Given the description of an element on the screen output the (x, y) to click on. 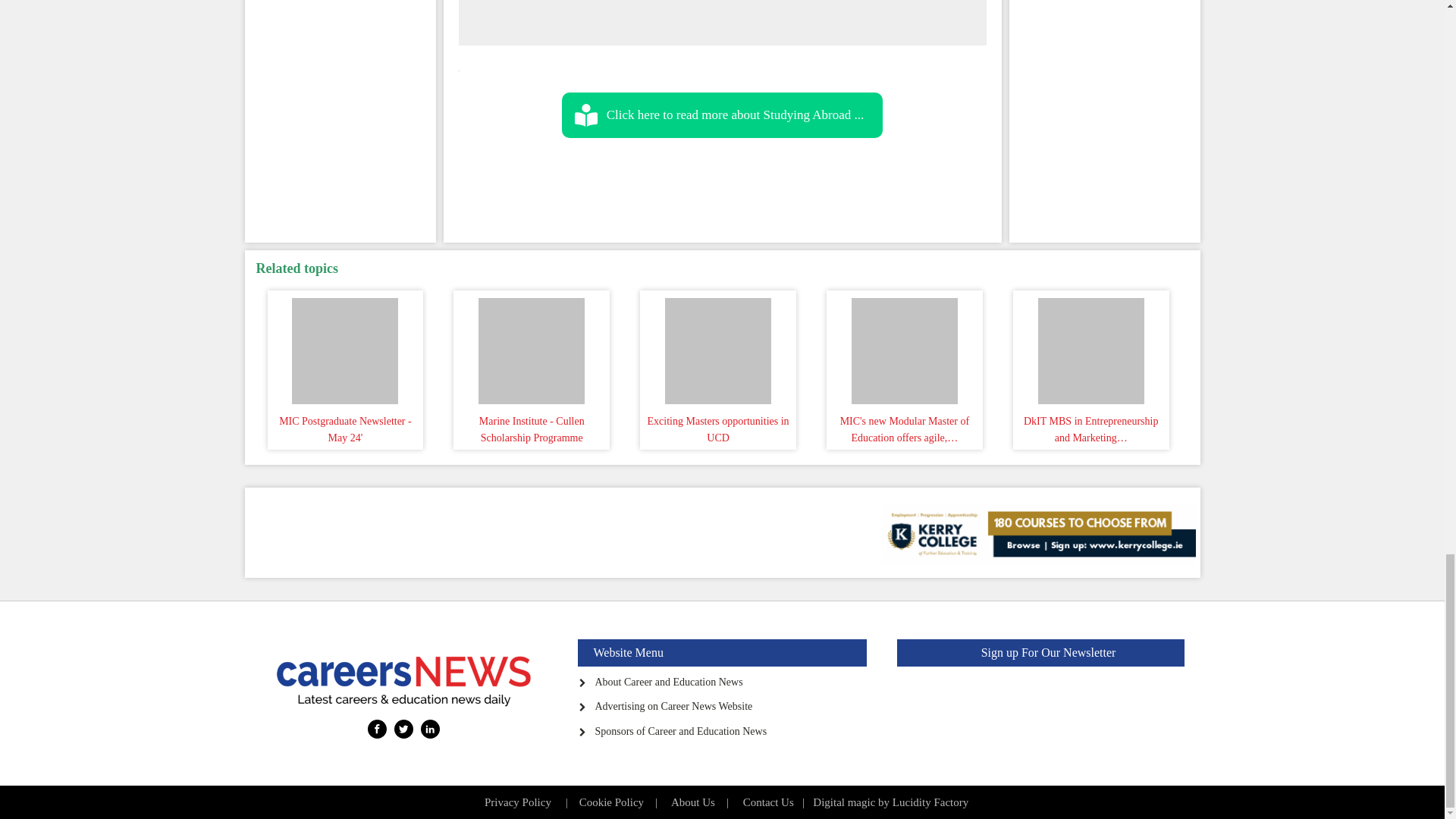
MIC Postgraduate Newsletter - May 24' (345, 347)
Exciting Masters opportunities in UCD (717, 347)
Marine Institute - Cullen Scholarship Programme (531, 347)
